Given the description of an element on the screen output the (x, y) to click on. 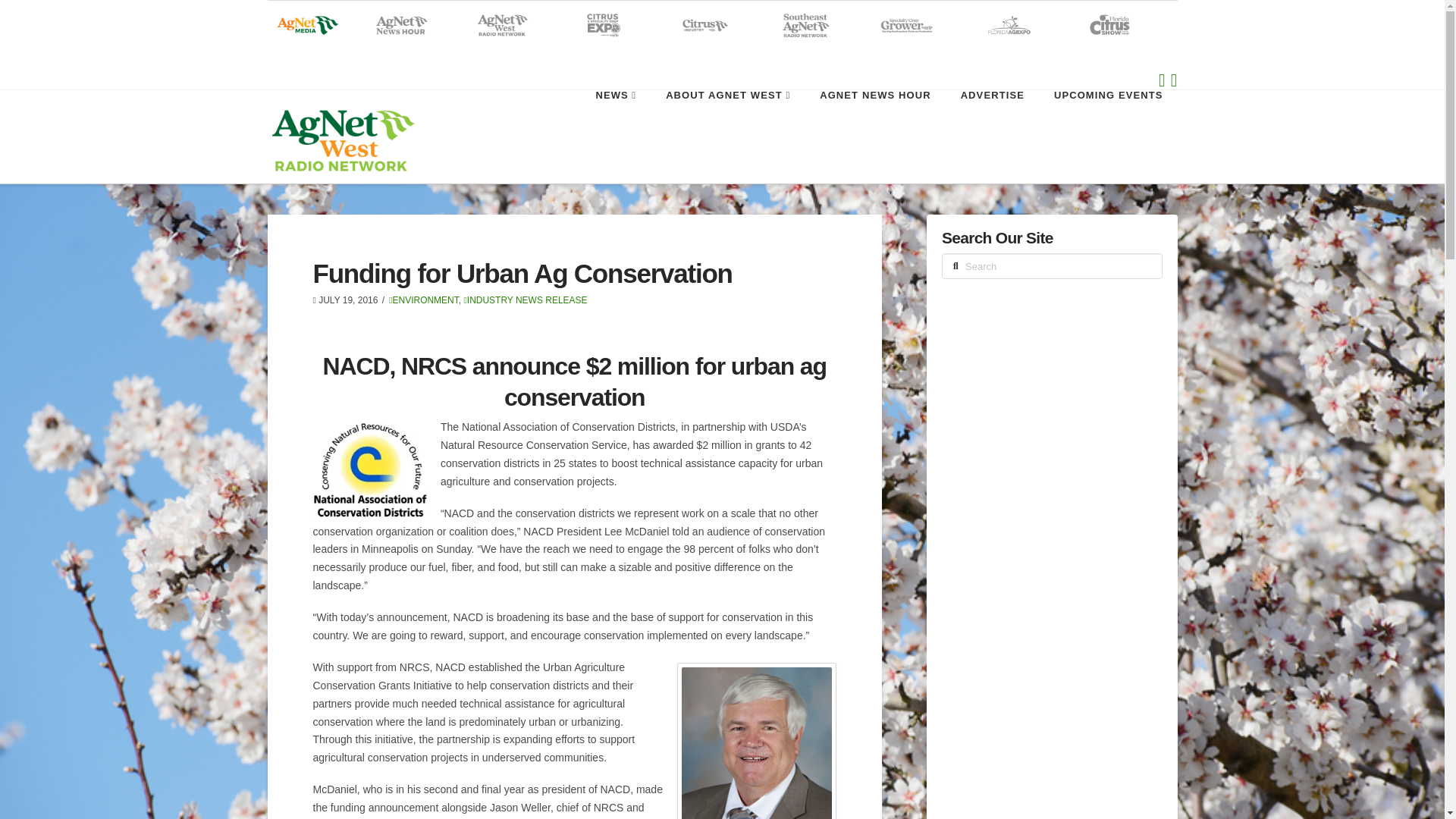
NEWS (614, 124)
